Given the description of an element on the screen output the (x, y) to click on. 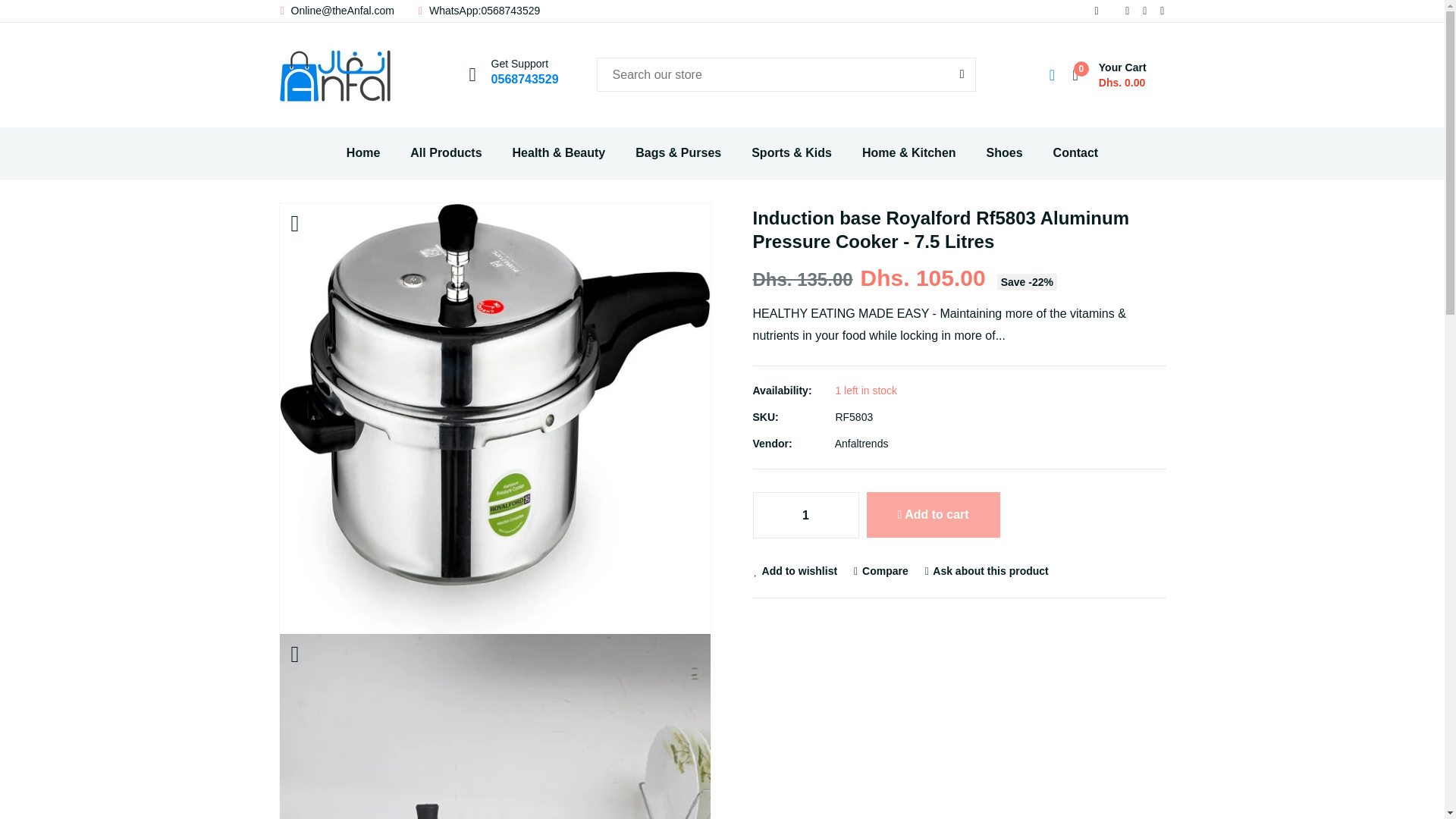
All Products (446, 153)
Contact (1075, 153)
Home (363, 153)
1 (805, 515)
Add to compare (879, 571)
Ask about this product (985, 571)
Add to wishlist (794, 571)
Shoes (1004, 153)
WhatsApp:0568743529 (478, 10)
